Given the description of an element on the screen output the (x, y) to click on. 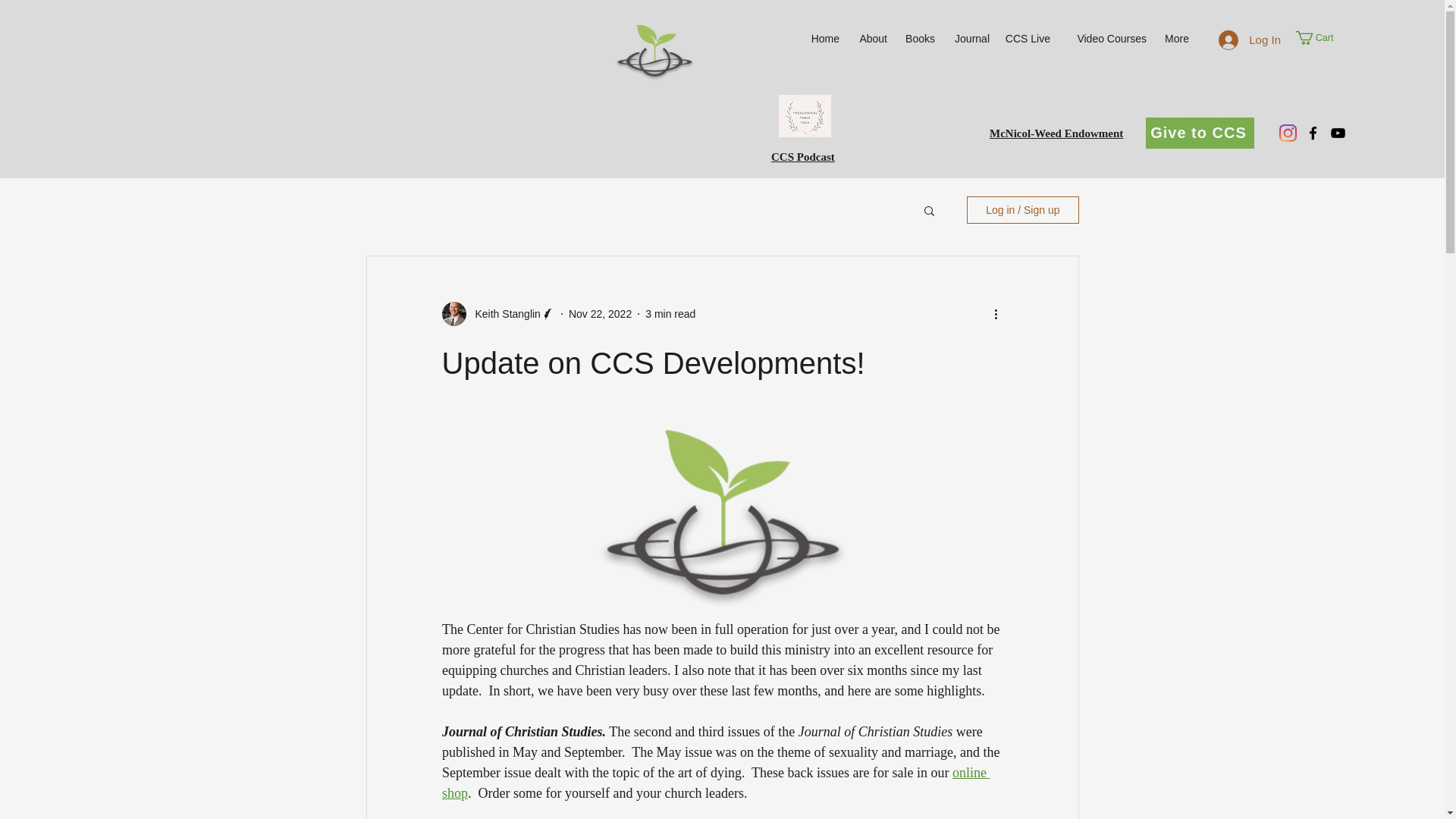
Nov 22, 2022 (600, 313)
Keith Stanglin (502, 314)
online shop (714, 782)
Give to CCS (1199, 132)
Log In (1249, 39)
Home (822, 38)
CCS Live (1027, 38)
McNicol-Weed Endowment (1056, 132)
Journal (969, 38)
CCS-Logo-NoText.png (653, 52)
